Given the description of an element on the screen output the (x, y) to click on. 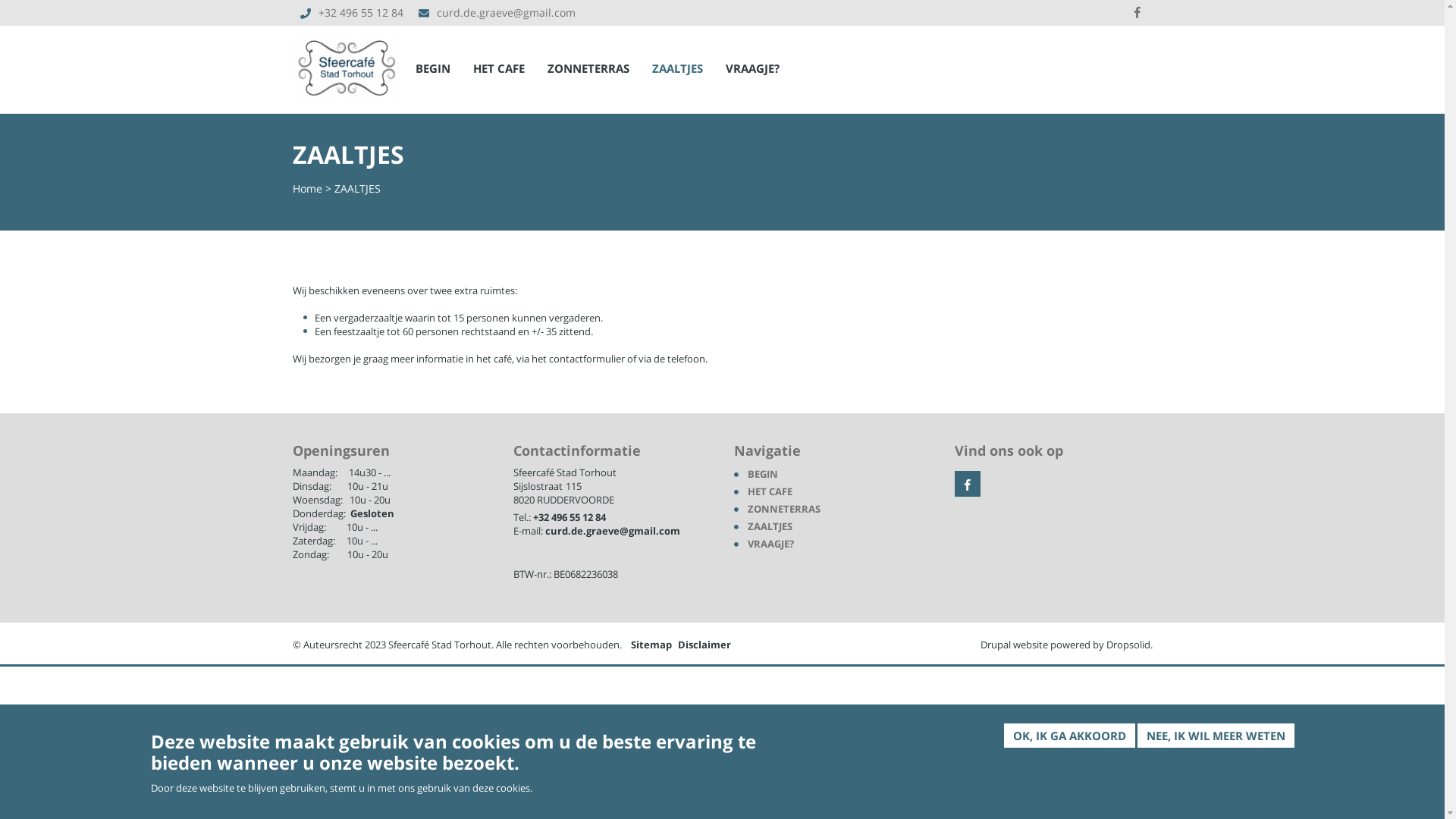
Sitemap Element type: text (650, 644)
Home Element type: hover (346, 63)
ZAALTJES Element type: text (356, 187)
BEGIN Element type: text (432, 68)
facebook Element type: text (966, 483)
BEGIN Element type: text (762, 473)
facebook Element type: text (1136, 12)
HET CAFE Element type: text (769, 491)
ZONNETERRAS Element type: text (588, 68)
ZONNETERRAS Element type: text (783, 508)
ZAALTJES Element type: text (677, 68)
NEE, IK WIL MEER WETEN Element type: text (1215, 735)
curd.de.graeve@gmail.com Element type: text (505, 12)
+32 496 55 12 84 Element type: text (360, 12)
Home Element type: text (307, 187)
HET CAFE Element type: text (498, 68)
OK, IK GA AKKOORD Element type: text (1069, 735)
Disclaimer Element type: text (704, 644)
VRAAGJE? Element type: text (770, 543)
+32 496 55 12 84 Element type: text (568, 517)
ZAALTJES Element type: text (769, 526)
VRAAGJE? Element type: text (752, 68)
curd.de.graeve@gmail.com Element type: text (611, 530)
